Given the description of an element on the screen output the (x, y) to click on. 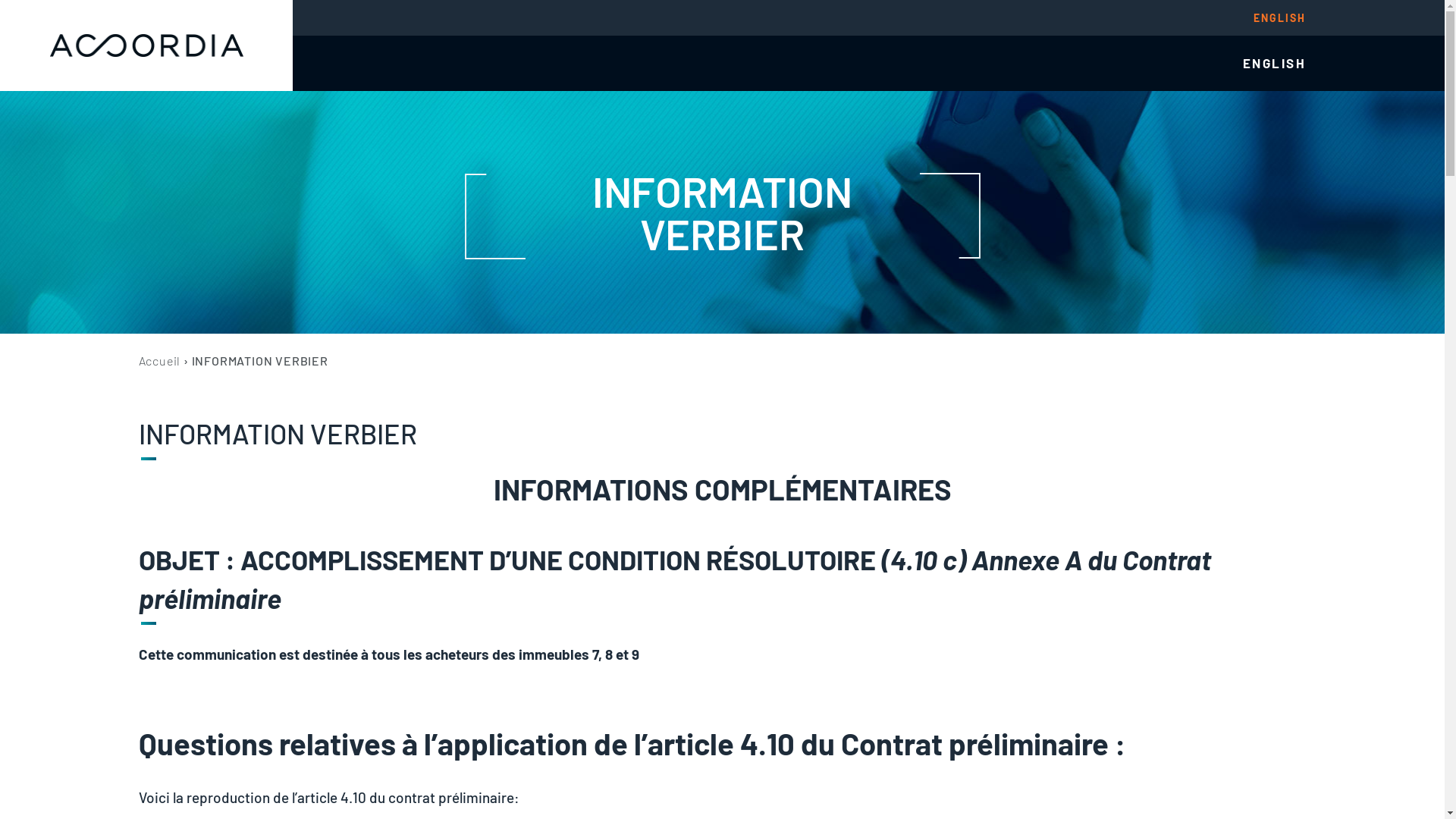
ENGLISH Element type: text (1279, 17)
Accueil Element type: text (159, 360)
logo Element type: hover (146, 45)
ENGLISH Element type: text (1274, 63)
